Given the description of an element on the screen output the (x, y) to click on. 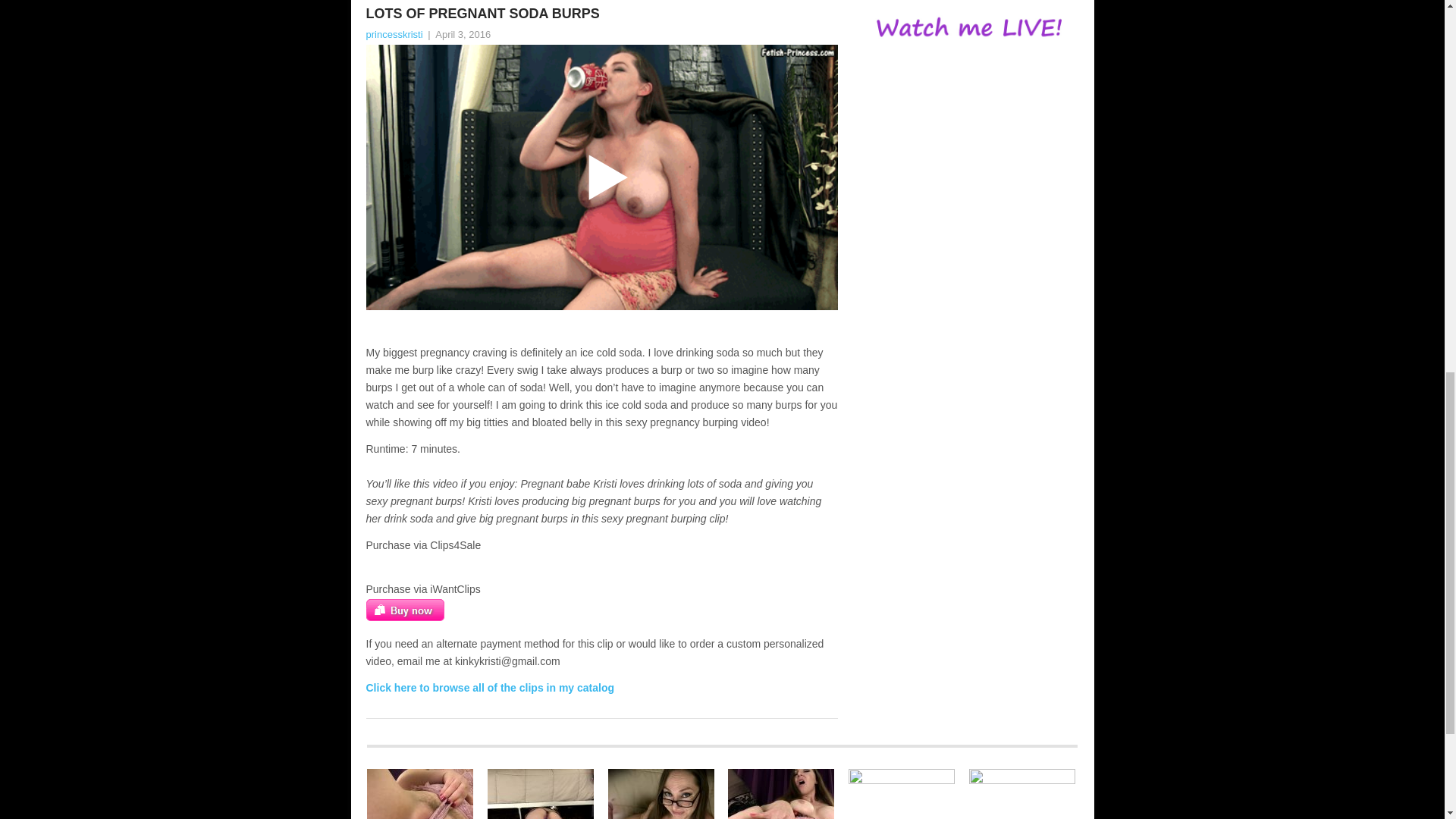
Posts by princesskristi (393, 34)
You Crave It, Fag (661, 794)
Mommy Gets Stuck Under the Bed (540, 794)
Lots of Pregnant Soda Burps (601, 13)
Born Again Virgin (419, 794)
Mommy Wants You to Know (781, 794)
